Given the description of an element on the screen output the (x, y) to click on. 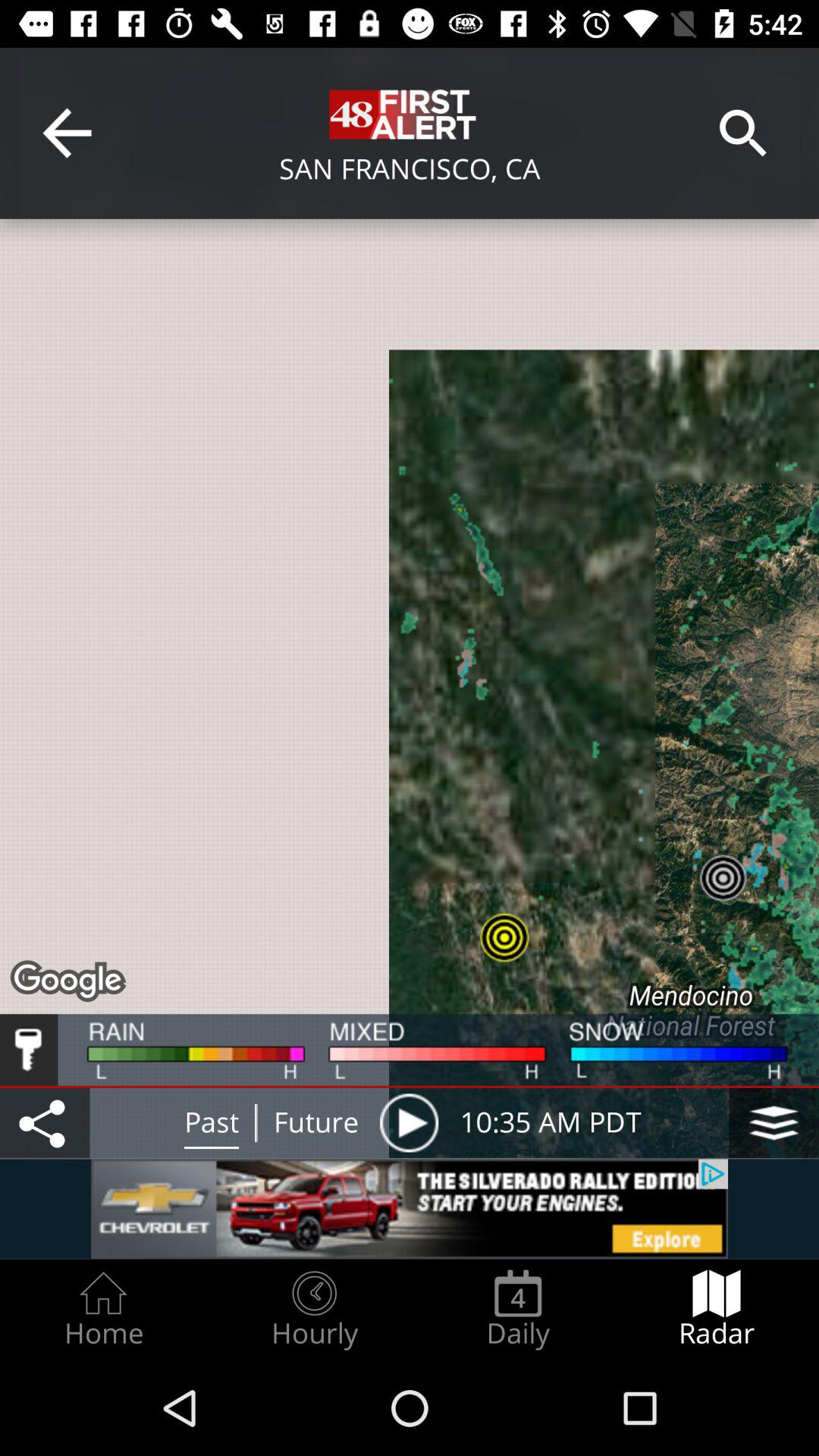
select the radio button next to the hourly (518, 1309)
